Given the description of an element on the screen output the (x, y) to click on. 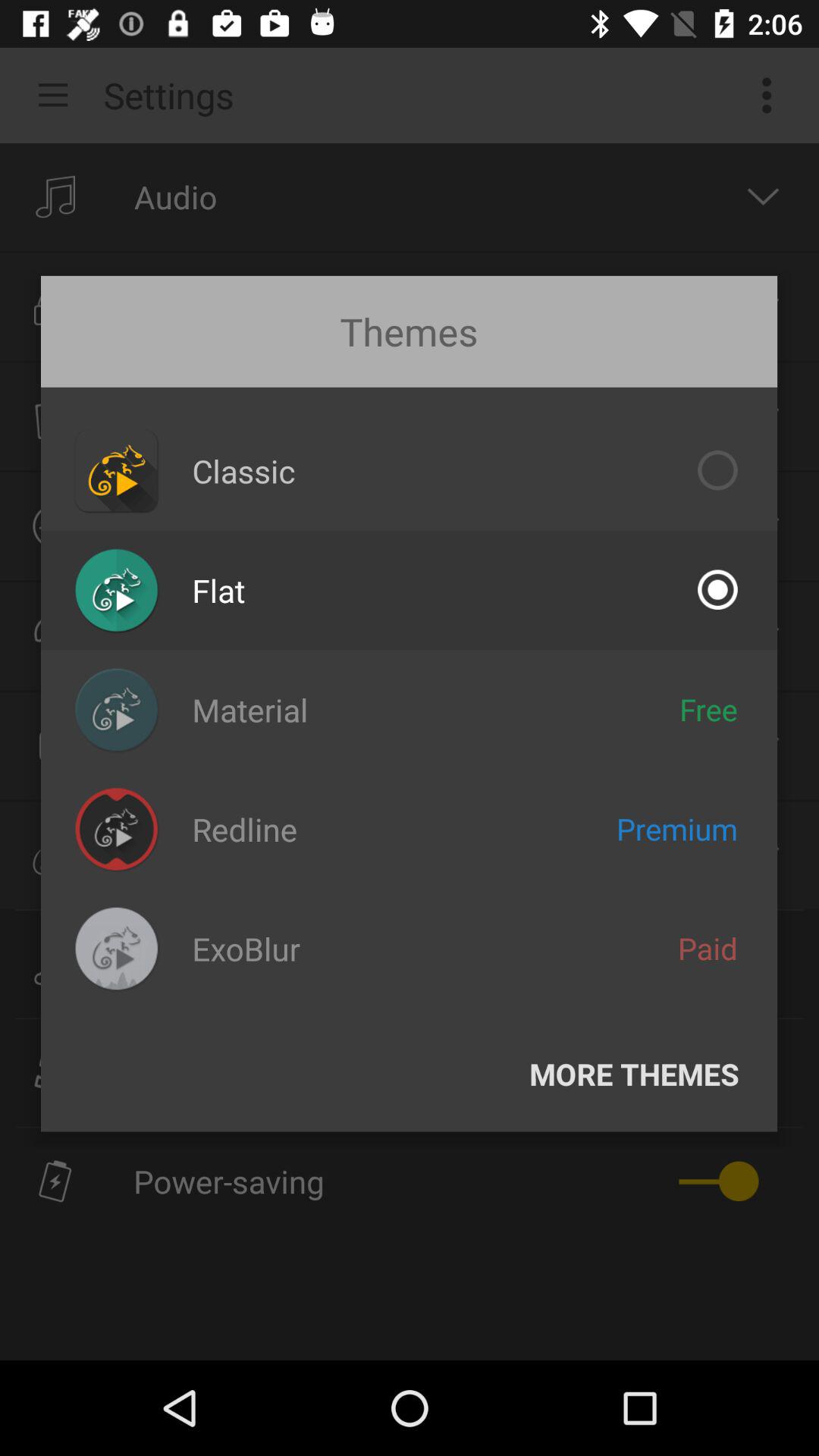
choose the item next to the exoblur icon (707, 948)
